Given the description of an element on the screen output the (x, y) to click on. 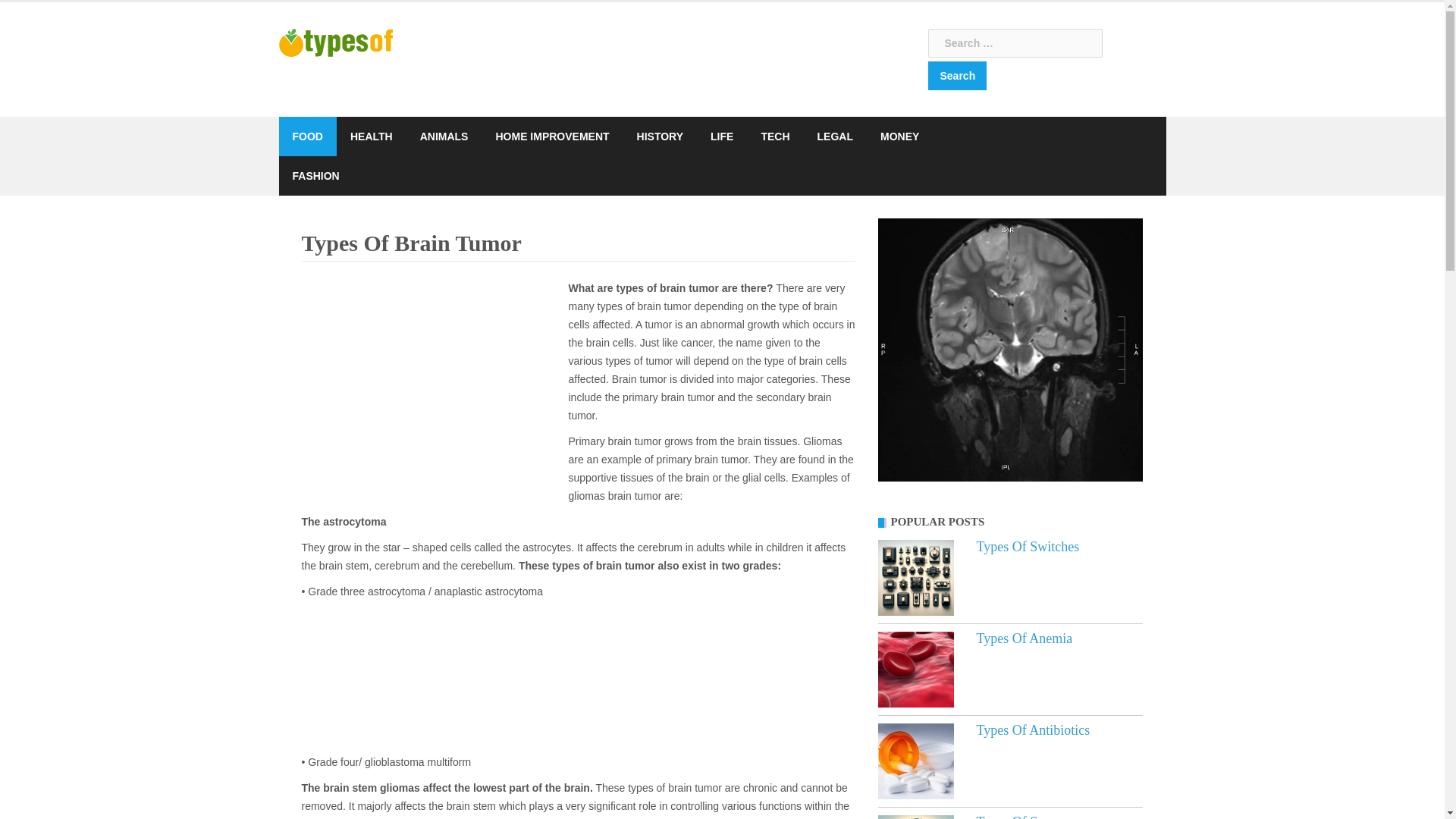
Types Of Sensors (915, 816)
Types Of Sensors (1024, 816)
Types Of Anemia (915, 669)
HISTORY (659, 136)
Types Of Antibiotics (915, 761)
HOME IMPROVEMENT (551, 136)
Types Of Switches (915, 577)
Types Of Switches (1028, 546)
Types Of Anemia (1024, 638)
Search (957, 75)
